Given the description of an element on the screen output the (x, y) to click on. 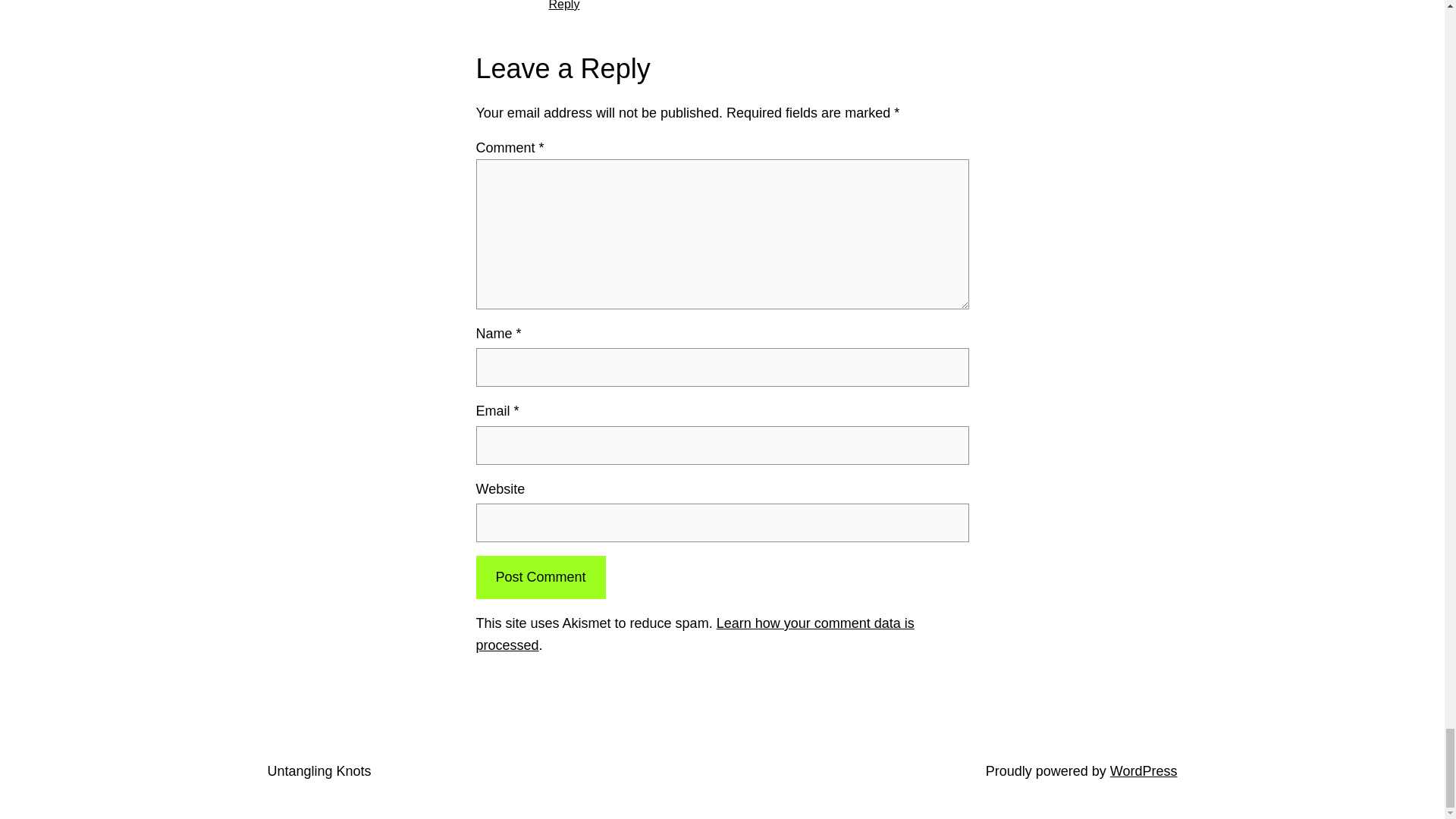
Post Comment (540, 577)
